Given the description of an element on the screen output the (x, y) to click on. 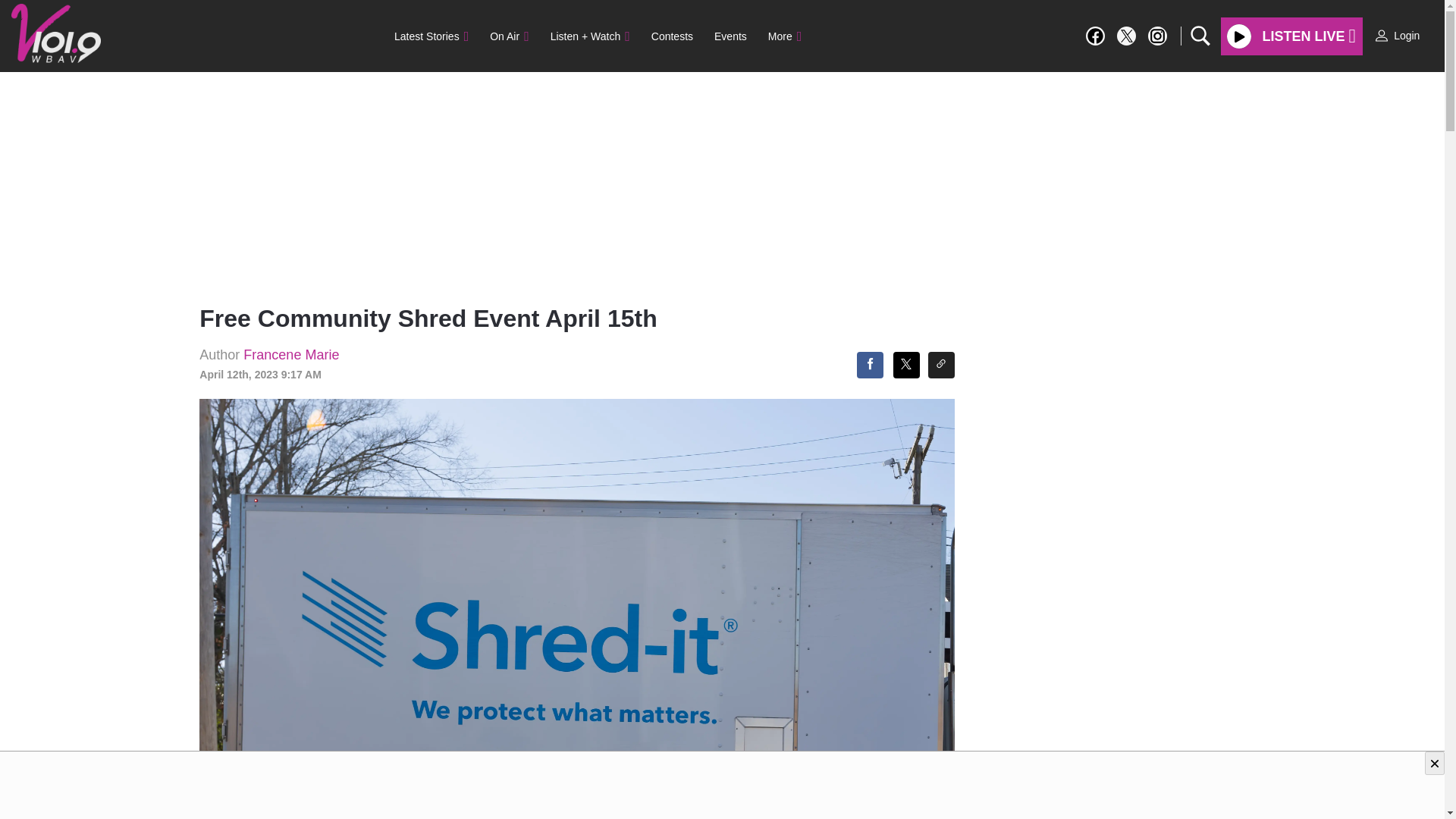
On Air (508, 36)
More (784, 36)
Contests (671, 36)
Latest Stories (431, 36)
Close AdCheckmark indicating ad close (1434, 763)
Francene Marie (291, 354)
Events (730, 36)
